Given the description of an element on the screen output the (x, y) to click on. 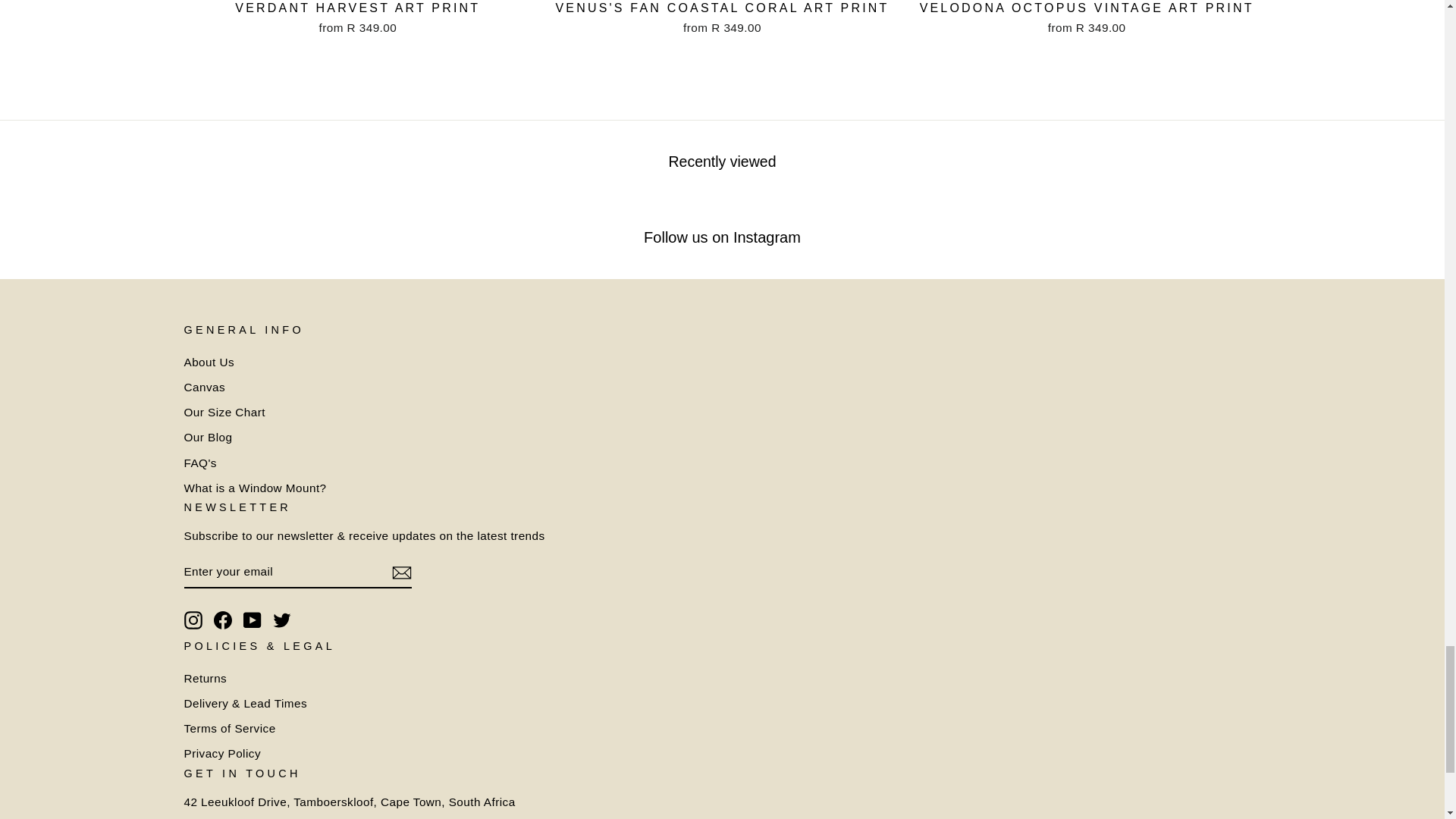
Stone and Gray on Facebook (222, 619)
Stone and Gray on Instagram (192, 619)
Stone and Gray on YouTube (251, 619)
Stone and Gray on Twitter (282, 619)
